Given the description of an element on the screen output the (x, y) to click on. 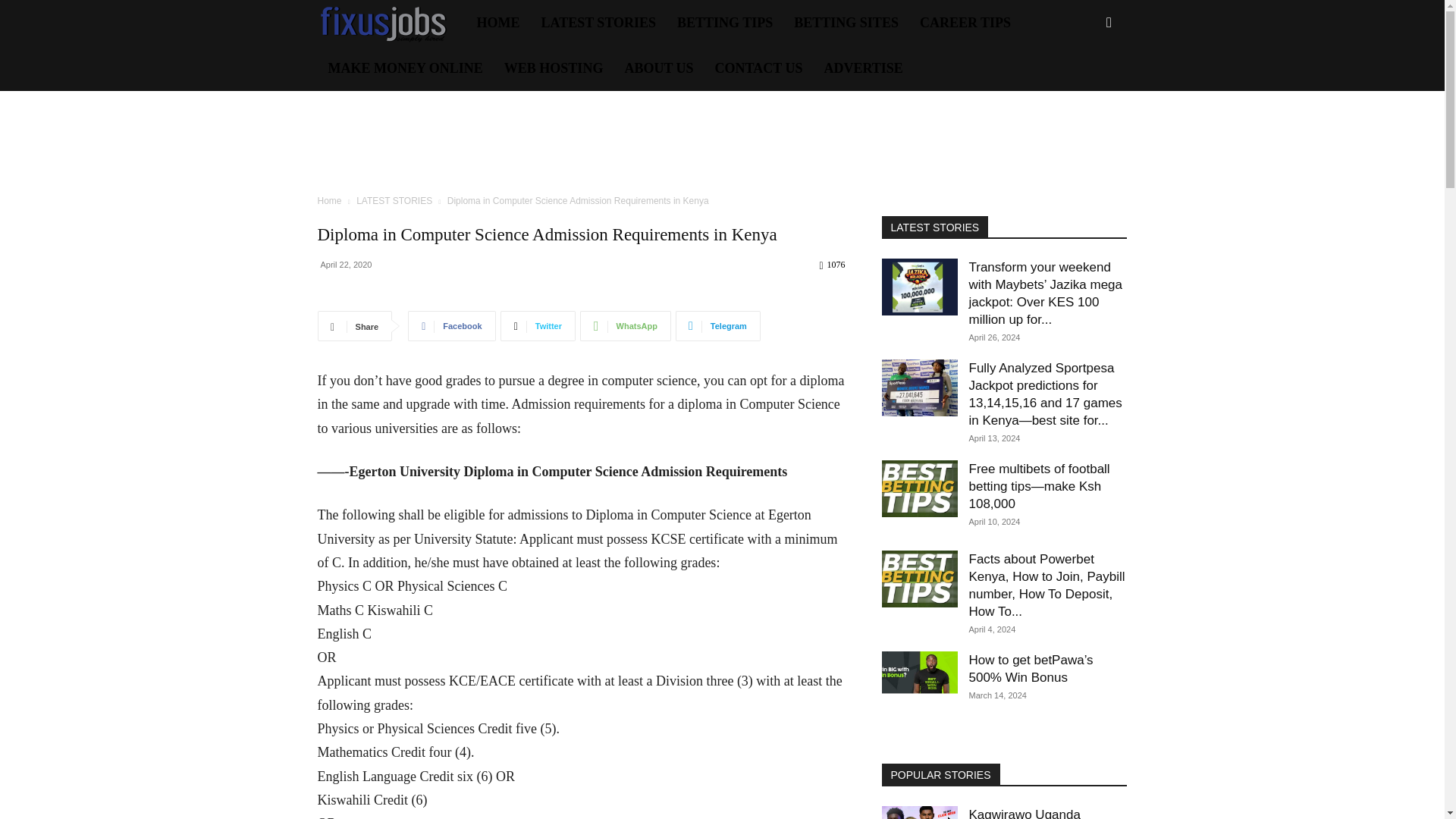
MAKE MONEY ONLINE (405, 67)
LATEST STORIES (394, 200)
CONTACT US (758, 67)
WEB HOSTING (553, 67)
Telegram (717, 326)
Fixus Jobs (391, 22)
BETTING SITES (845, 22)
CAREER TIPS (965, 22)
HOME (497, 22)
Home (328, 200)
ABOUT US (657, 67)
WhatsApp (625, 326)
Facebook (451, 326)
LATEST STORIES (598, 22)
BETTING TIPS (724, 22)
